Given the description of an element on the screen output the (x, y) to click on. 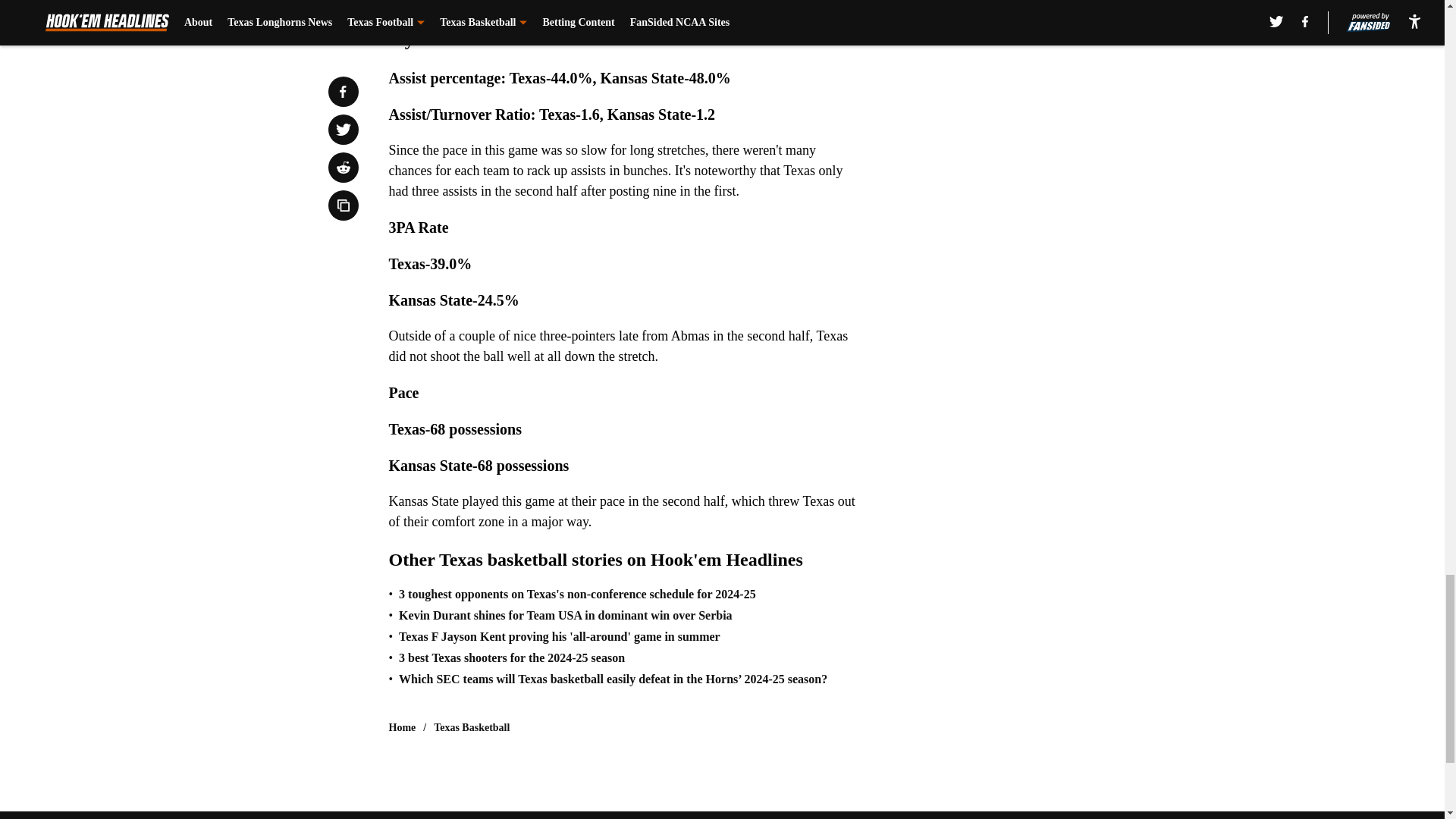
Home (401, 727)
Texas Basketball (471, 727)
Texas F Jayson Kent proving his 'all-around' game in summer (559, 636)
Kevin Durant shines for Team USA in dominant win over Serbia (565, 615)
3 best Texas shooters for the 2024-25 season (511, 658)
